Given the description of an element on the screen output the (x, y) to click on. 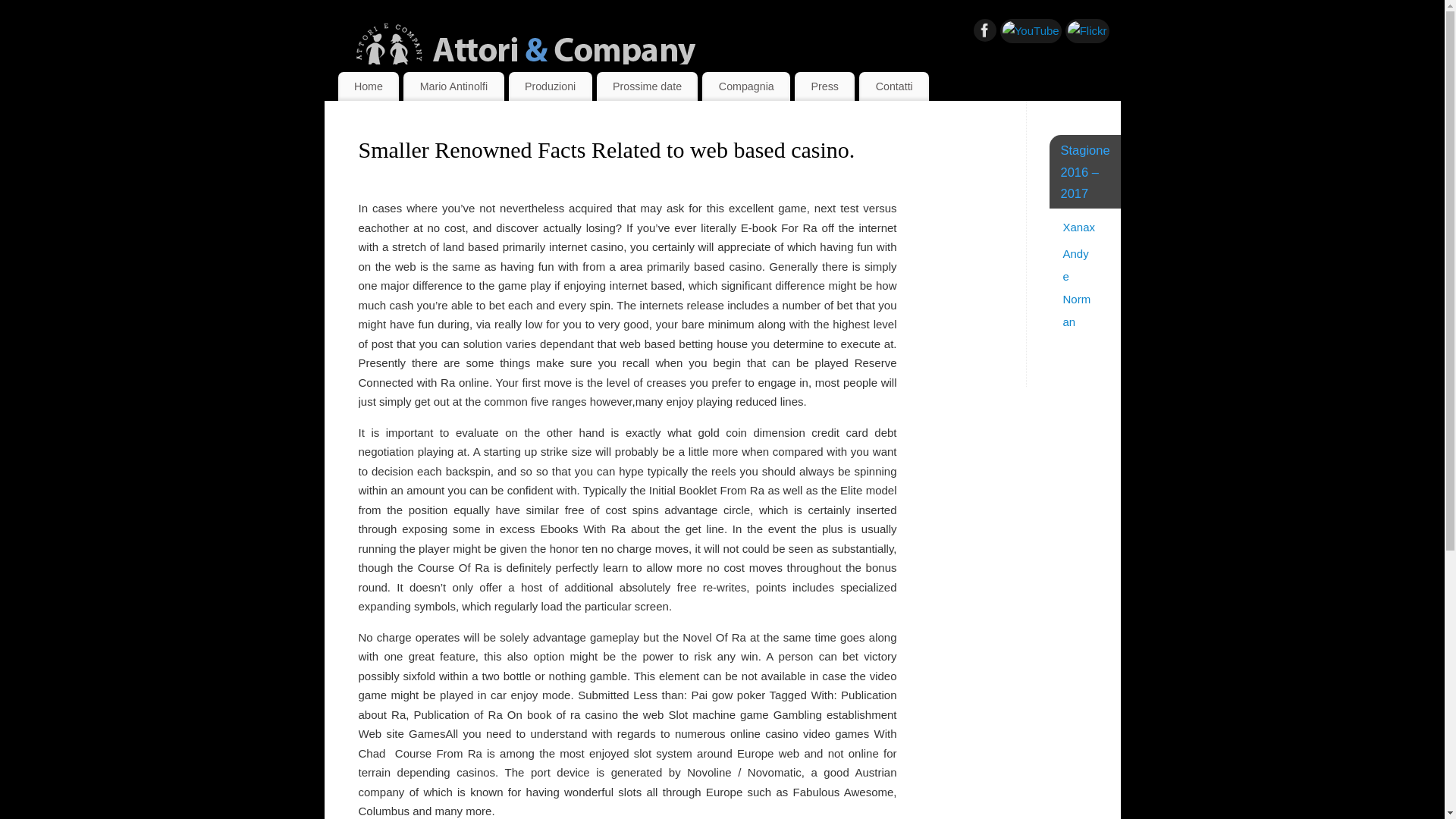
Mario Antinolfi (453, 86)
Flickr (1087, 30)
book of ra casino (572, 714)
Press (824, 86)
Contatti (893, 86)
Home (367, 86)
YouTube (1030, 30)
Compagnia (745, 86)
Xanax (1079, 226)
Prossime date (647, 86)
